Given the description of an element on the screen output the (x, y) to click on. 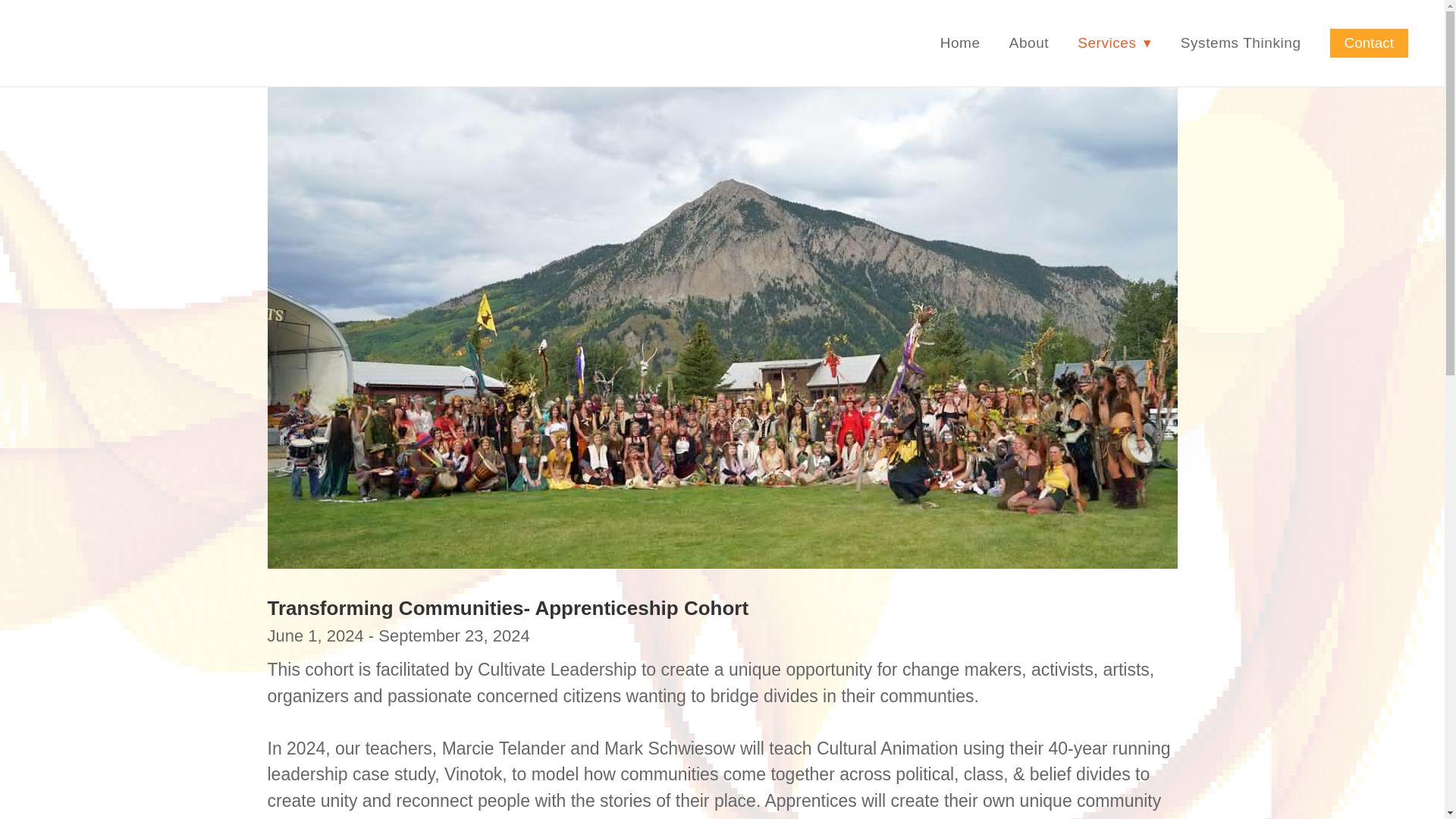
Systems Thinking (1240, 42)
Contact (1368, 42)
Home (959, 42)
About (1029, 42)
Cultivate Leadership (145, 43)
